Given the description of an element on the screen output the (x, y) to click on. 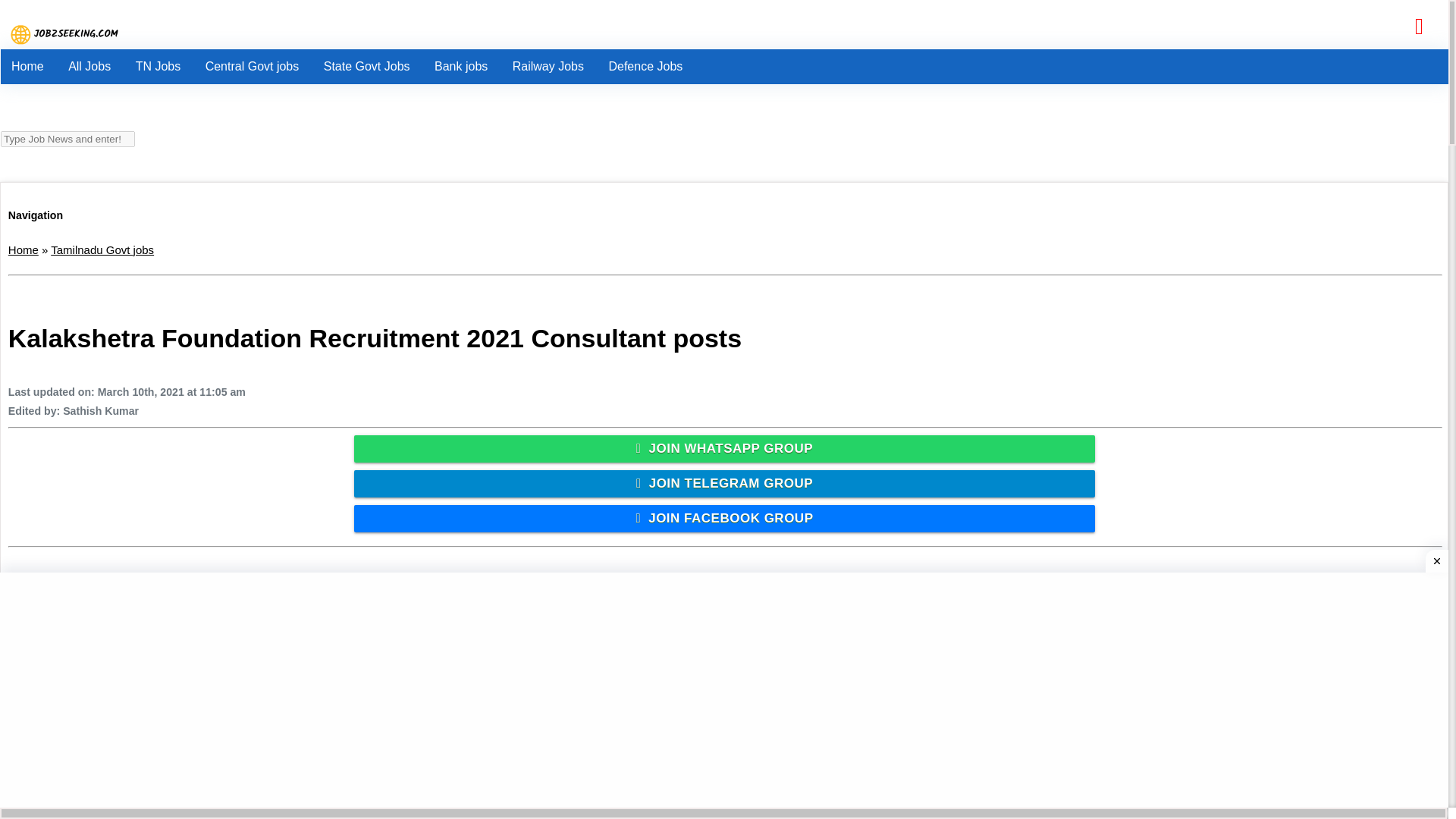
State Govt Jobs (366, 66)
Railway Jobs (548, 66)
All Jobs (89, 66)
Home (23, 249)
Defence Jobs (644, 66)
JOIN WHATSAPP GROUP (724, 448)
Central Govt jobs (252, 66)
Home (28, 66)
Search for: (68, 139)
JOIN TELEGRAM GROUP (724, 483)
Tamilnadu Govt jobs (102, 249)
JOIN FACEBOOK GROUP (724, 518)
TN Jobs (158, 66)
